Given the description of an element on the screen output the (x, y) to click on. 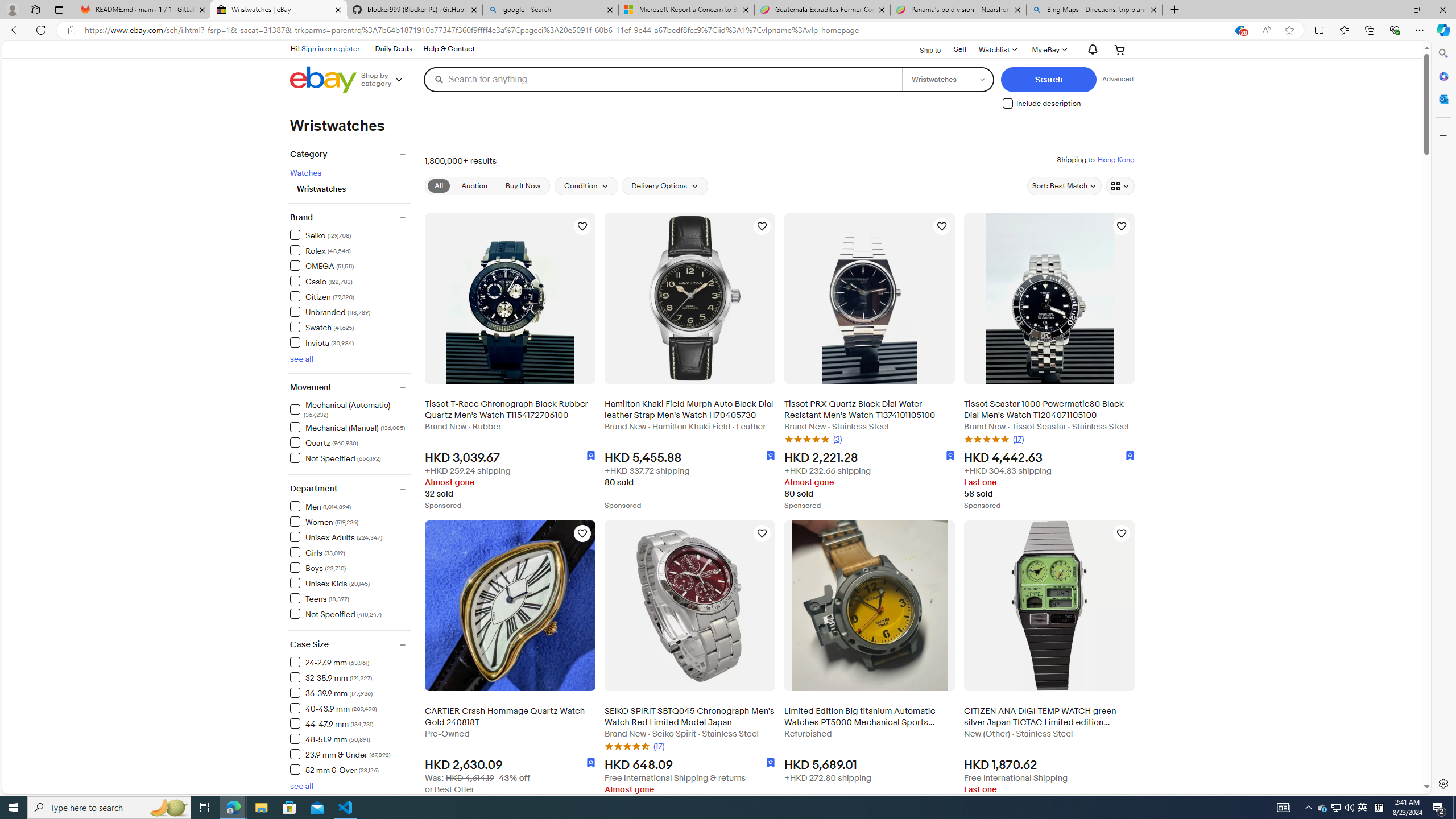
Unisex Adults(224,347) Items (349, 536)
eBay Home (322, 79)
Buy It Now (522, 185)
Rolex (48,546) Items (319, 249)
Casio(122,783) Items (349, 280)
52 mm & Over(28,126) Items (349, 769)
36-39.9 mm (177,936) Items (330, 692)
36-39.9 mm(177,936) Items (349, 692)
